Given the description of an element on the screen output the (x, y) to click on. 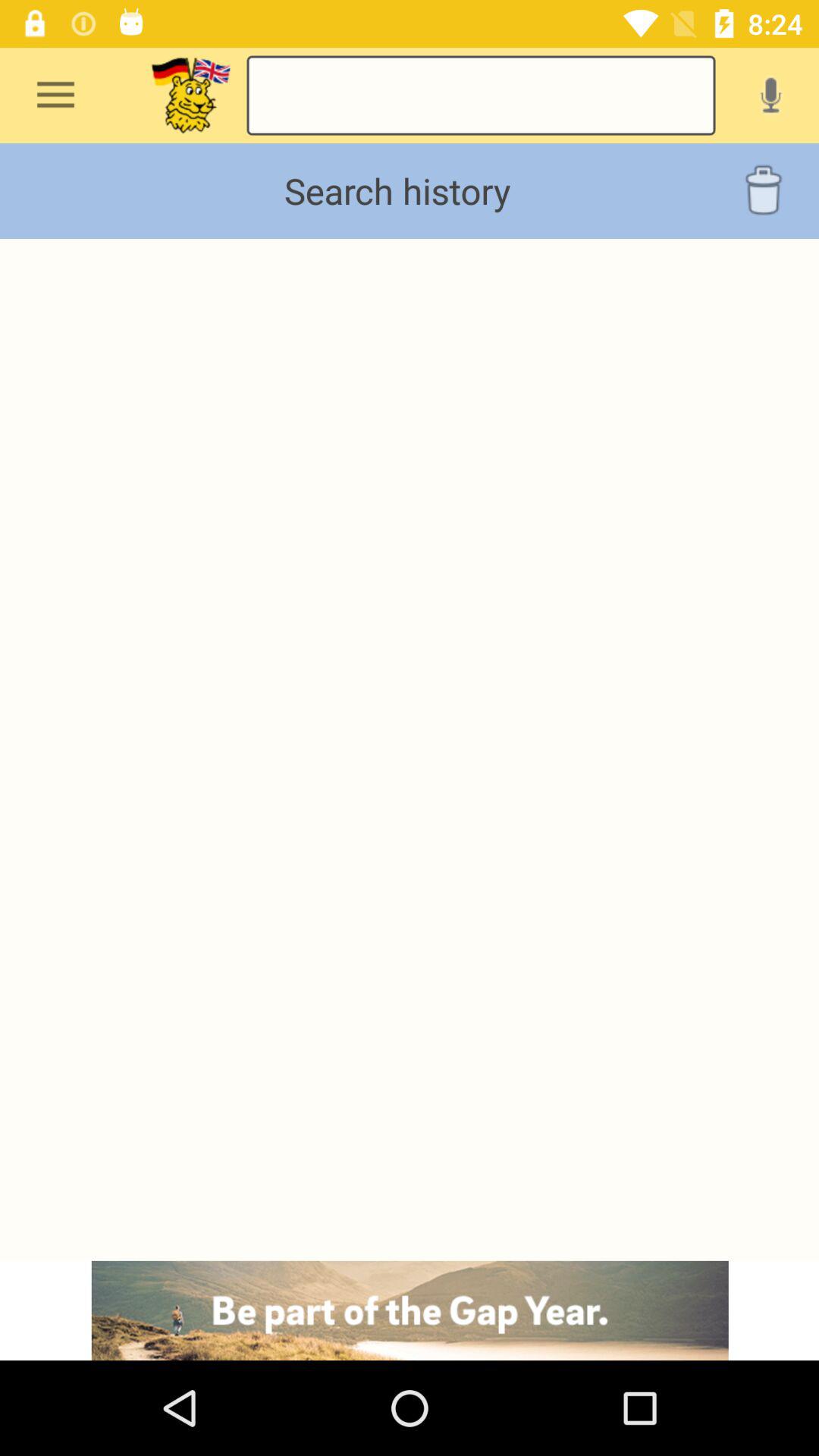
search box (480, 95)
